Given the description of an element on the screen output the (x, y) to click on. 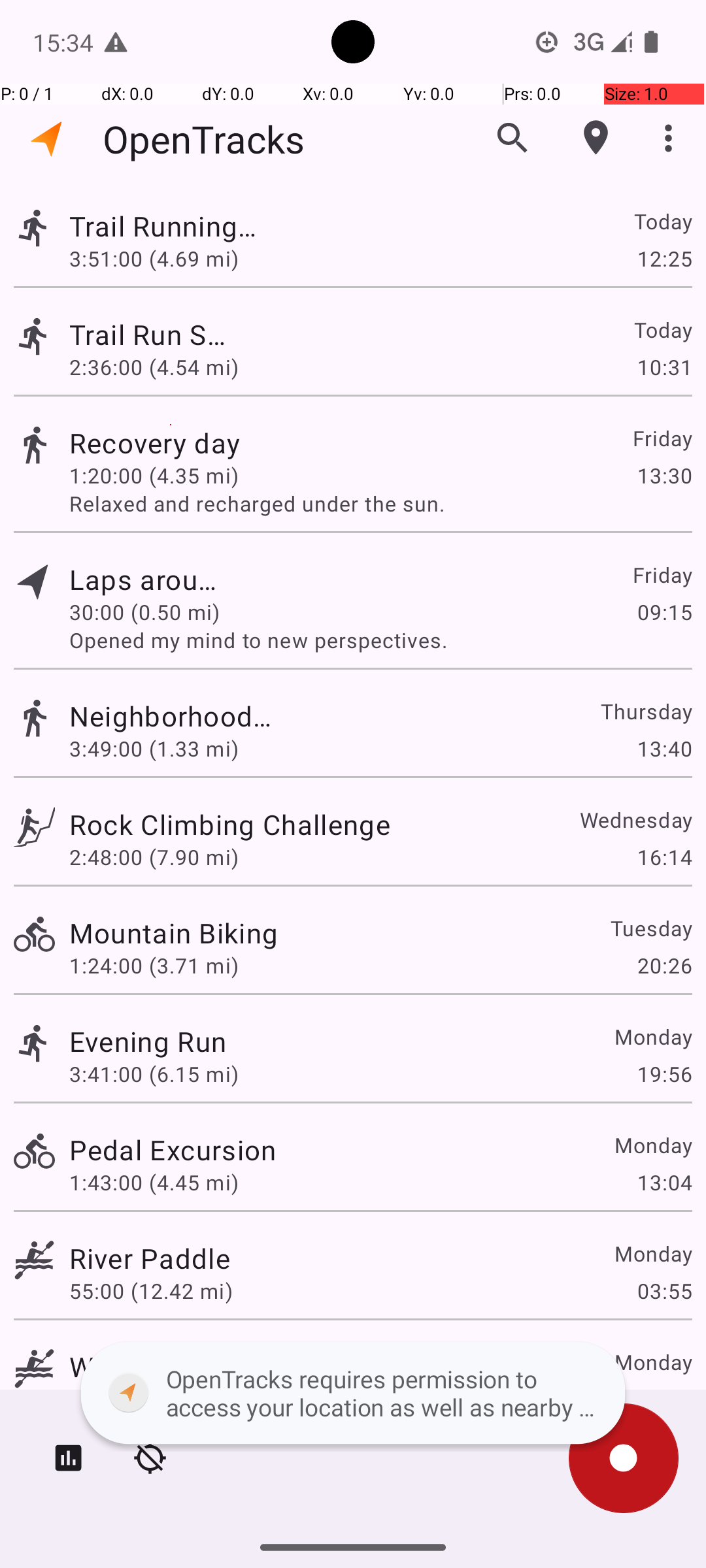
OpenTracks Element type: android.widget.TextView (203, 138)
Record Element type: android.widget.ImageButton (623, 1458)
Track Element type: android.widget.ImageView (33, 227)
Trail Running Adventure Element type: android.widget.TextView (173, 225)
Today Element type: android.widget.TextView (662, 221)
3:51:00 (4.69 mi) Element type: android.widget.TextView (153, 258)
12:25 Element type: android.widget.TextView (664, 258)
Trail Run Session Element type: android.widget.TextView (147, 333)
2:36:00 (4.54 mi) Element type: android.widget.TextView (153, 366)
10:31 Element type: android.widget.TextView (664, 366)
Recovery day Element type: android.widget.TextView (172, 442)
Friday Element type: android.widget.TextView (661, 438)
1:20:00 (4.35 mi) Element type: android.widget.TextView (153, 475)
13:30 Element type: android.widget.TextView (664, 475)
Relaxed and recharged under the sun. Element type: android.widget.TextView (380, 503)
Laps around the lake Element type: android.widget.TextView (149, 578)
30:00 (0.50 mi) Element type: android.widget.TextView (150, 611)
09:15 Element type: android.widget.TextView (664, 611)
Opened my mind to new perspectives. Element type: android.widget.TextView (380, 639)
Neighborhood Walk Element type: android.widget.TextView (180, 715)
Thursday Element type: android.widget.TextView (645, 711)
3:49:00 (1.33 mi) Element type: android.widget.TextView (153, 748)
13:40 Element type: android.widget.TextView (664, 748)
Rock Climbing Challenge Element type: android.widget.TextView (229, 823)
Wednesday Element type: android.widget.TextView (635, 819)
2:48:00 (7.90 mi) Element type: android.widget.TextView (153, 856)
16:14 Element type: android.widget.TextView (664, 856)
Mountain Biking Element type: android.widget.TextView (173, 932)
Tuesday Element type: android.widget.TextView (650, 928)
1:24:00 (3.71 mi) Element type: android.widget.TextView (153, 965)
20:26 Element type: android.widget.TextView (664, 965)
Evening Run Element type: android.widget.TextView (147, 1040)
Monday Element type: android.widget.TextView (652, 1036)
3:41:00 (6.15 mi) Element type: android.widget.TextView (153, 1073)
19:56 Element type: android.widget.TextView (664, 1073)
Pedal Excursion Element type: android.widget.TextView (172, 1149)
1:43:00 (4.45 mi) Element type: android.widget.TextView (153, 1182)
13:04 Element type: android.widget.TextView (664, 1182)
River Paddle Element type: android.widget.TextView (149, 1257)
55:00 (12.42 mi) Element type: android.widget.TextView (150, 1290)
03:55 Element type: android.widget.TextView (664, 1290)
Waterway Paddle Element type: android.widget.TextView (180, 1366)
2:16:00 (3.34 mi) Element type: android.widget.TextView (153, 1399)
03:09 Element type: android.widget.TextView (664, 1399)
